Given the description of an element on the screen output the (x, y) to click on. 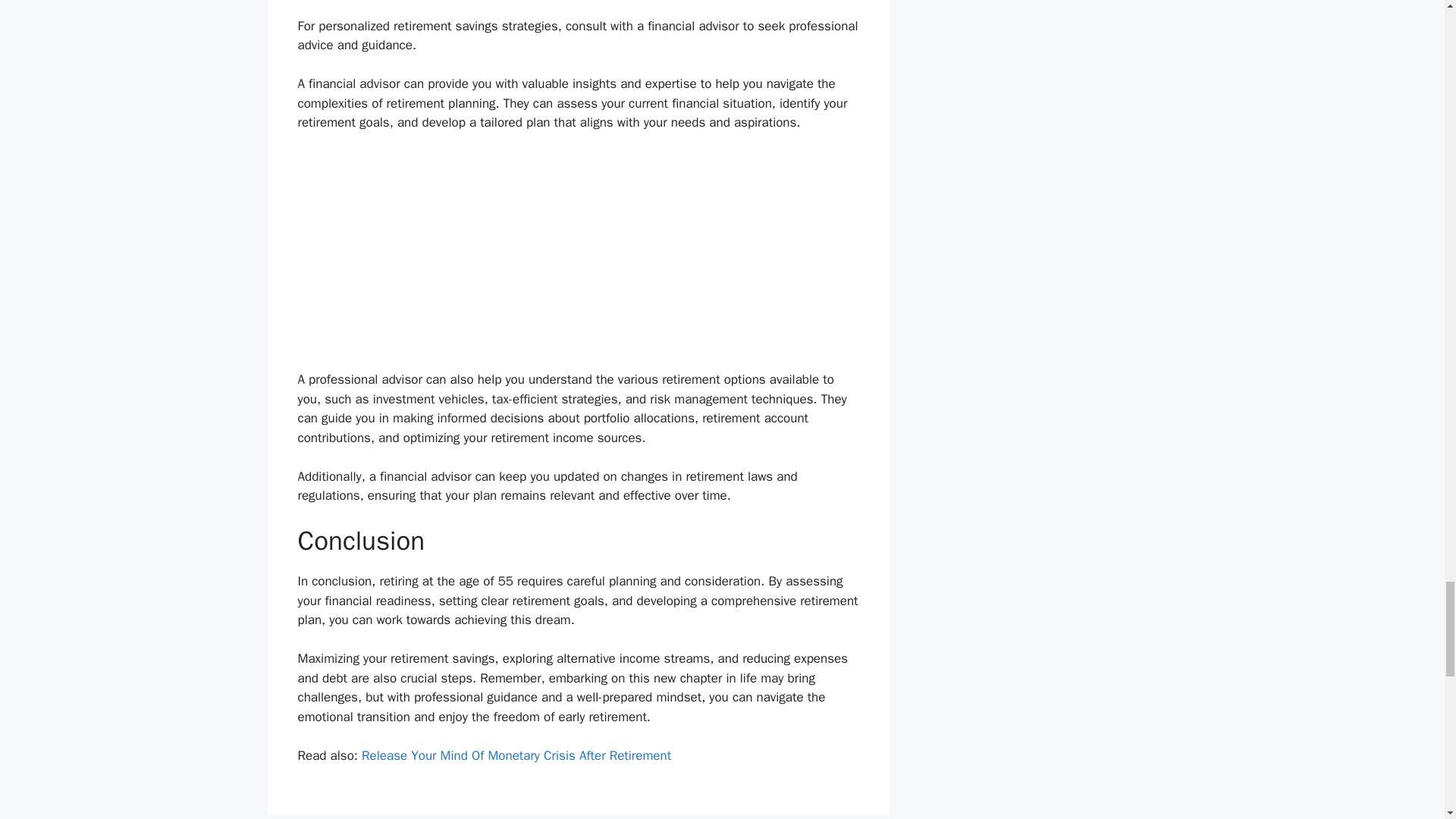
Release Your Mind Of Monetary Crisis After Retirement (516, 755)
